Given the description of an element on the screen output the (x, y) to click on. 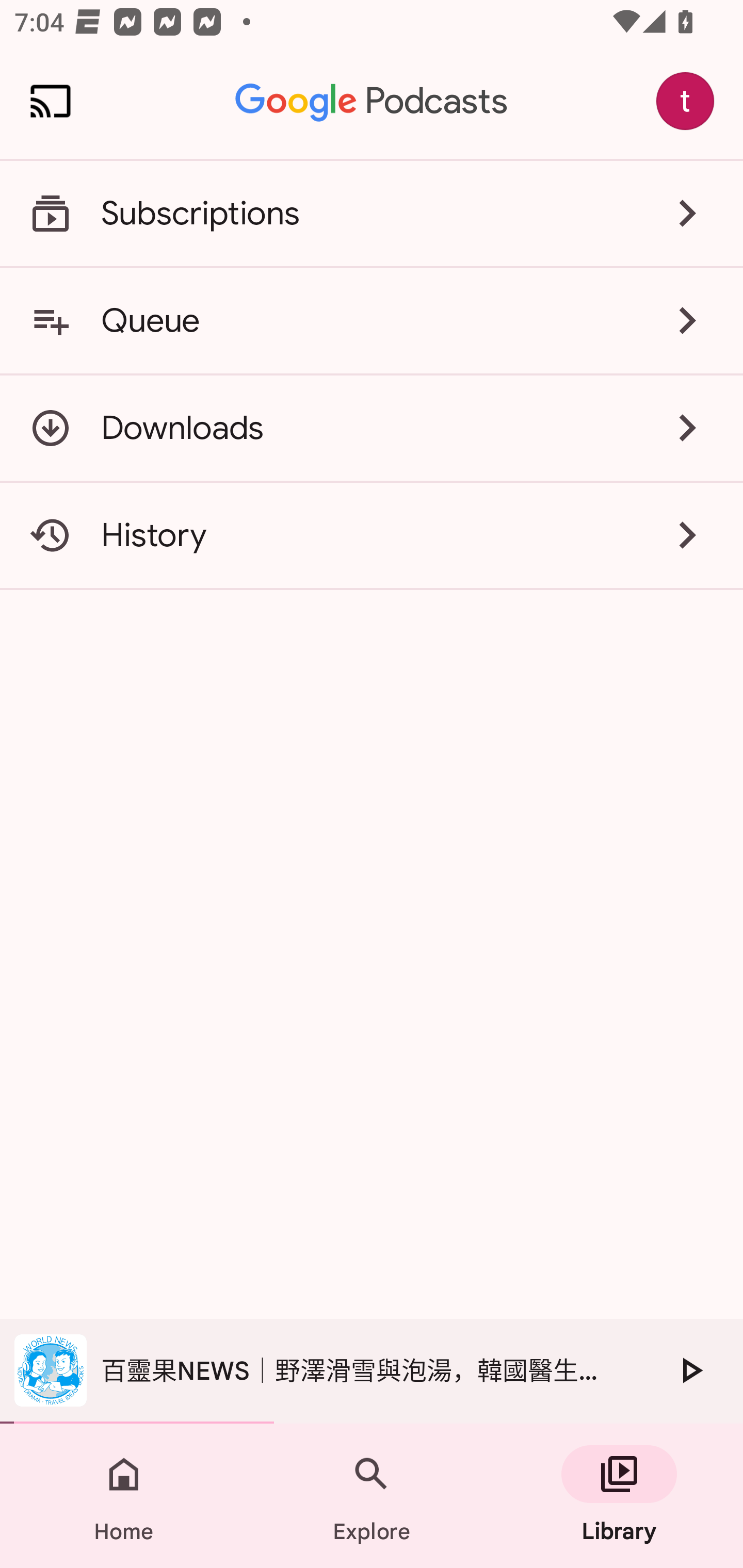
Cast. Disconnected (50, 101)
Subscriptions (371, 213)
Queue (371, 320)
Downloads (371, 427)
History (371, 535)
Play (690, 1370)
Home (123, 1495)
Explore (371, 1495)
